Given the description of an element on the screen output the (x, y) to click on. 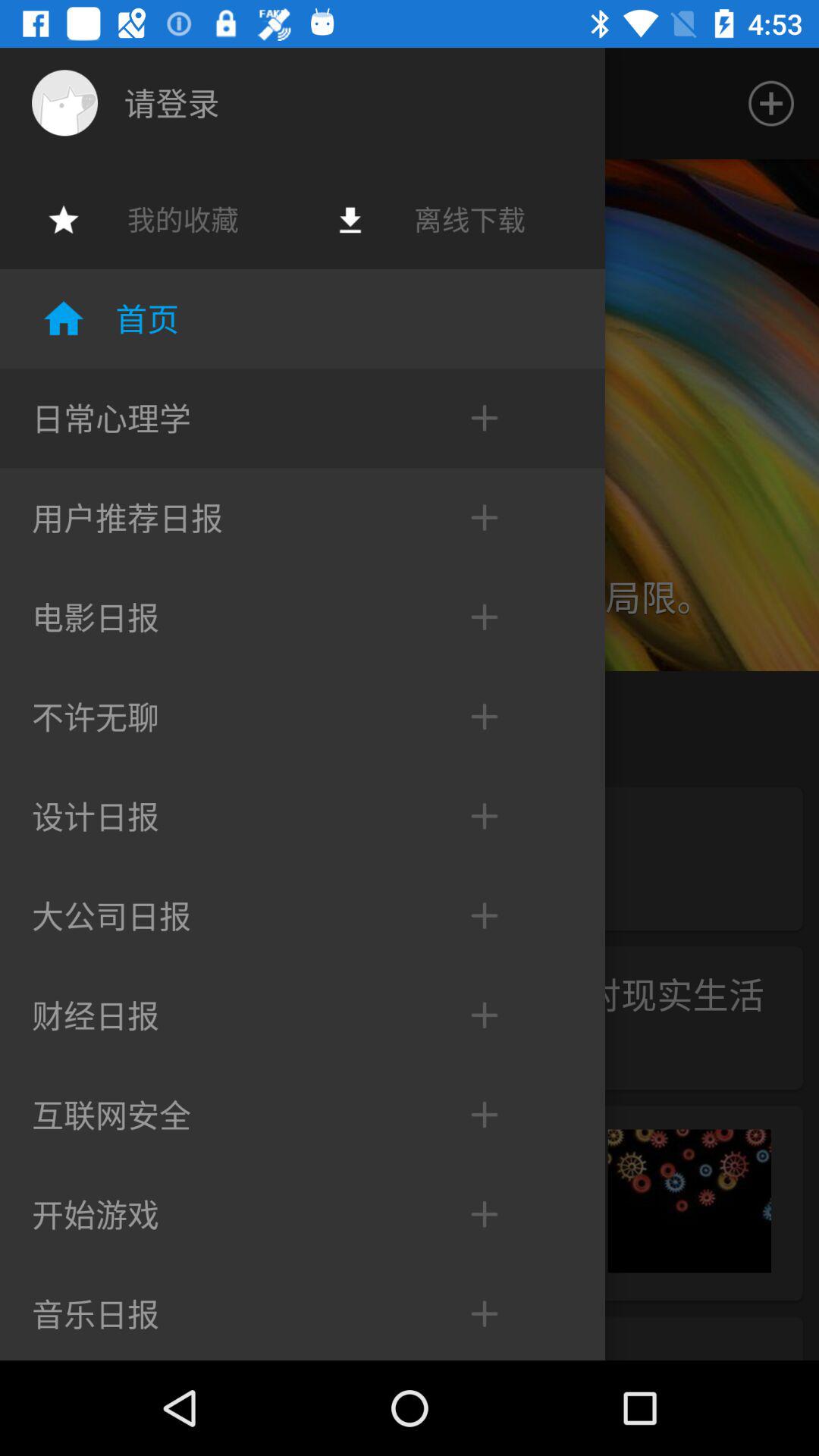
choose the bull icon (64, 102)
choose the plus icon on the top right (771, 103)
click on sixth plus symbol counting from bottom (468, 516)
click on the fifth plus icon from the bottom (468, 915)
